Given the description of an element on the screen output the (x, y) to click on. 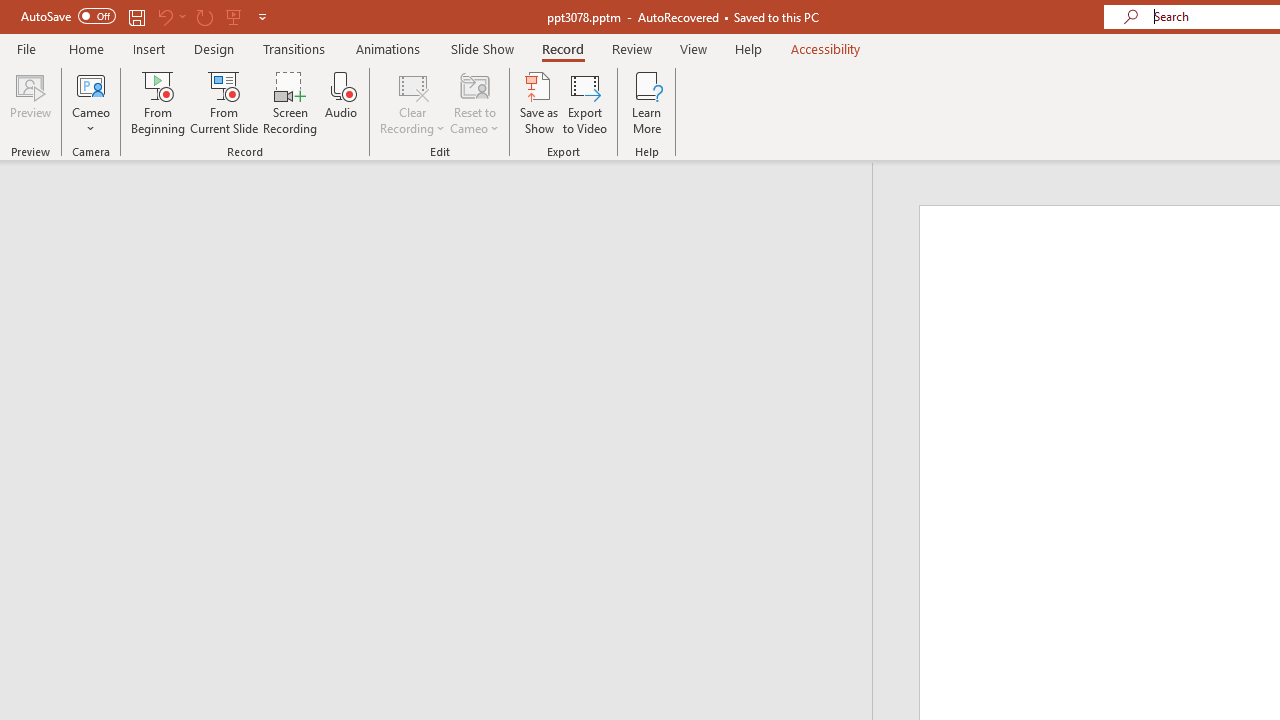
Reset to Cameo (474, 102)
Screen Recording (290, 102)
From Current Slide... (224, 102)
